Given the description of an element on the screen output the (x, y) to click on. 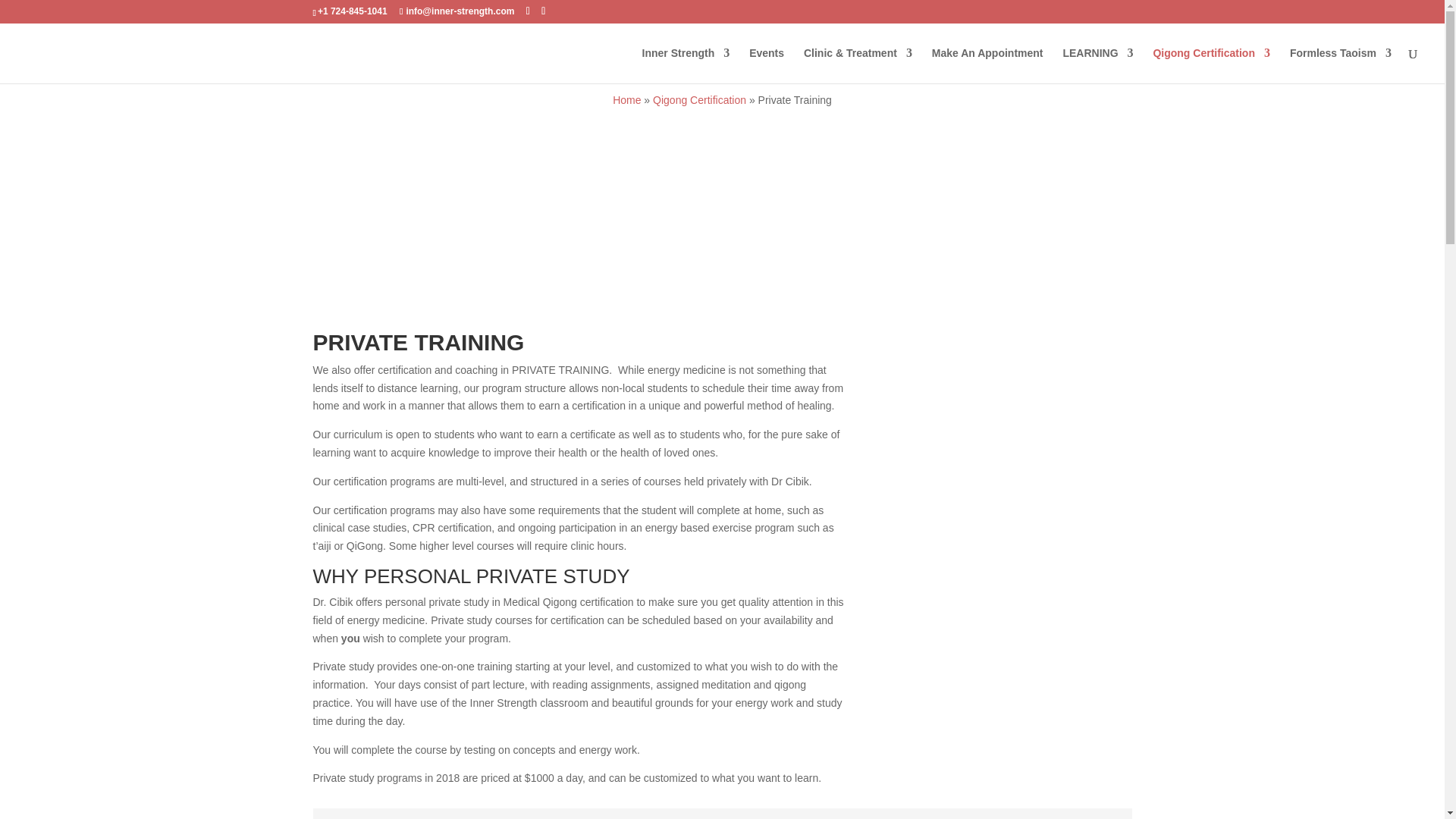
Formless Taoism (1340, 65)
Events (766, 65)
Inner Strength (686, 65)
LEARNING (1097, 65)
Qigong Certification (1211, 65)
Make An Appointment (987, 65)
